Given the description of an element on the screen output the (x, y) to click on. 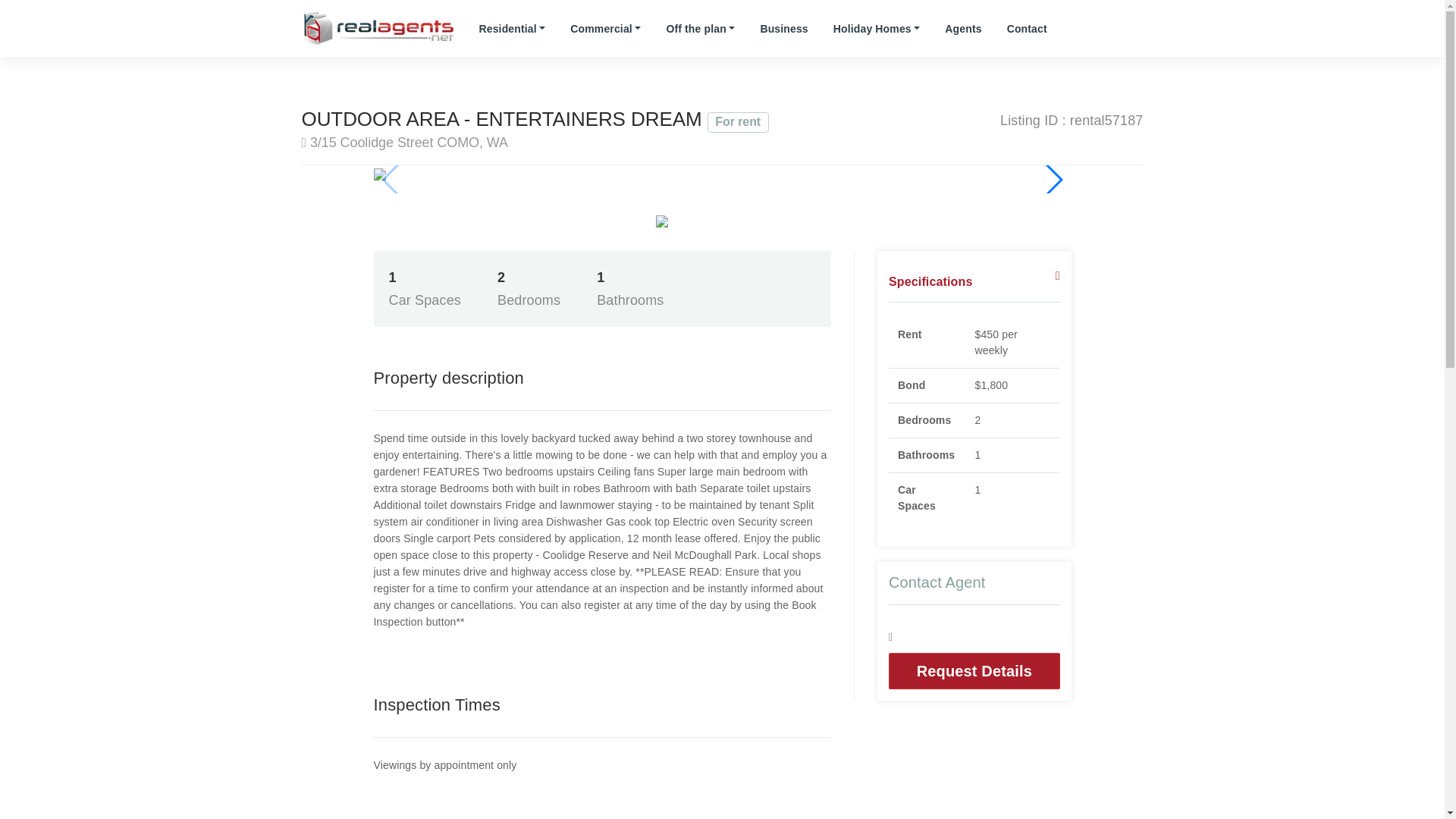
Contact (1026, 28)
Holiday Homes (876, 28)
Off the plan (699, 28)
Business (783, 28)
Residential (511, 28)
Commercial (605, 28)
Agents (962, 28)
